Given the description of an element on the screen output the (x, y) to click on. 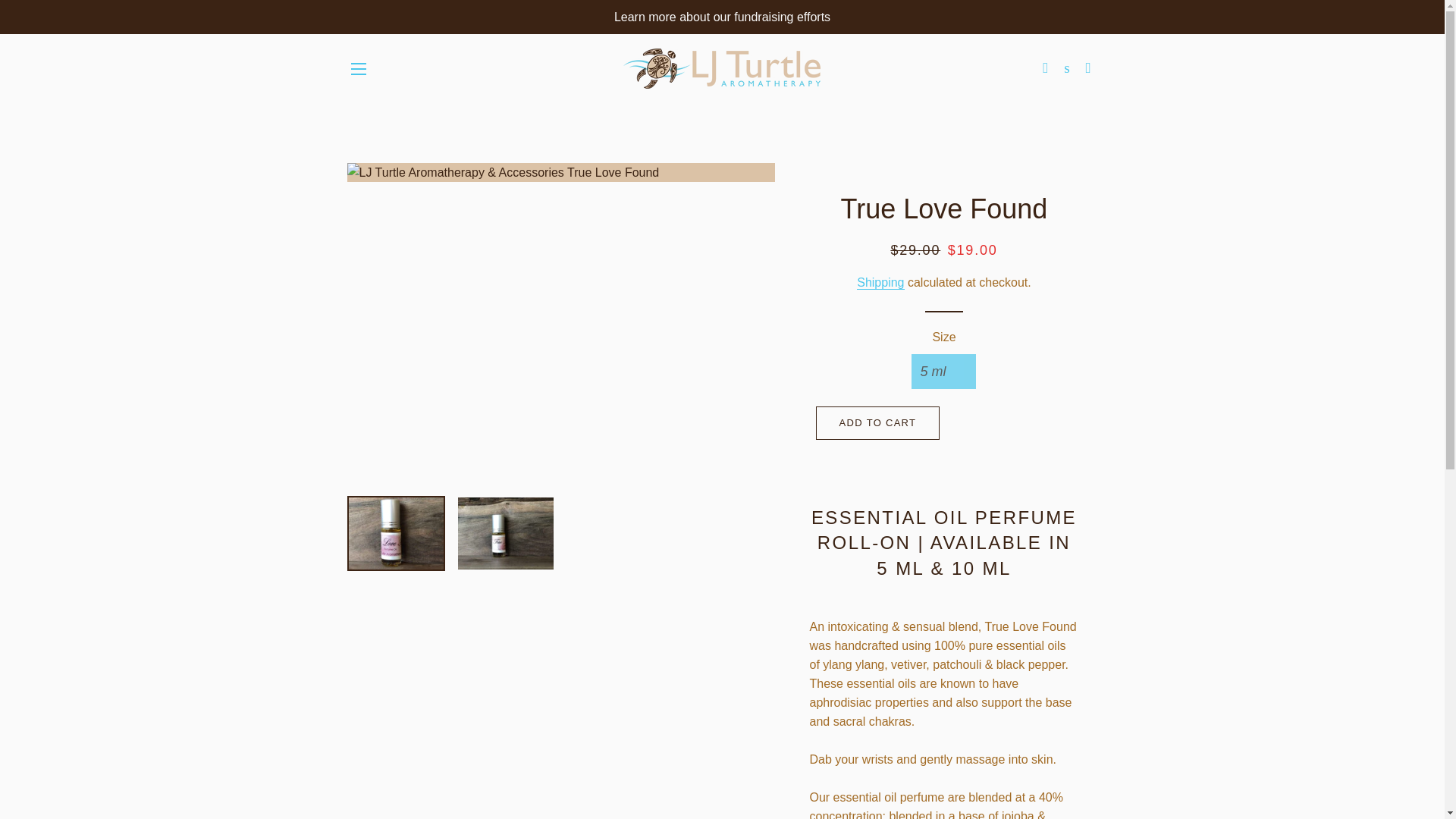
Page 2 (943, 759)
SITE NAVIGATION (358, 68)
Page 1 (943, 718)
